Given the description of an element on the screen output the (x, y) to click on. 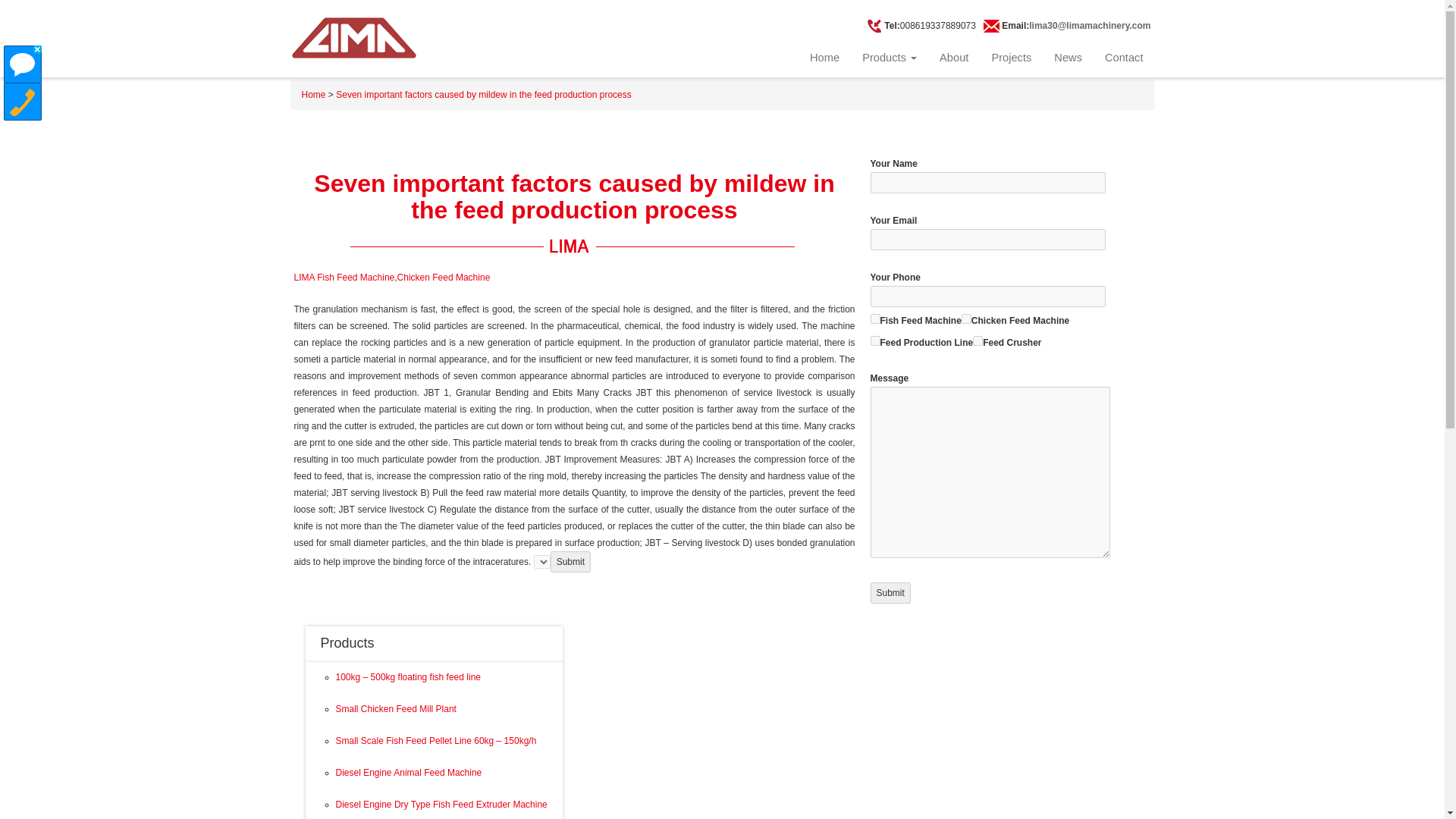
Products (889, 57)
News (1067, 57)
Chicken Feed Machine (965, 318)
Products (347, 642)
LIMA Fish Feed Machine (344, 276)
Feed Crusher (977, 340)
Submit (570, 561)
Projects (1010, 57)
About (953, 57)
